Given the description of an element on the screen output the (x, y) to click on. 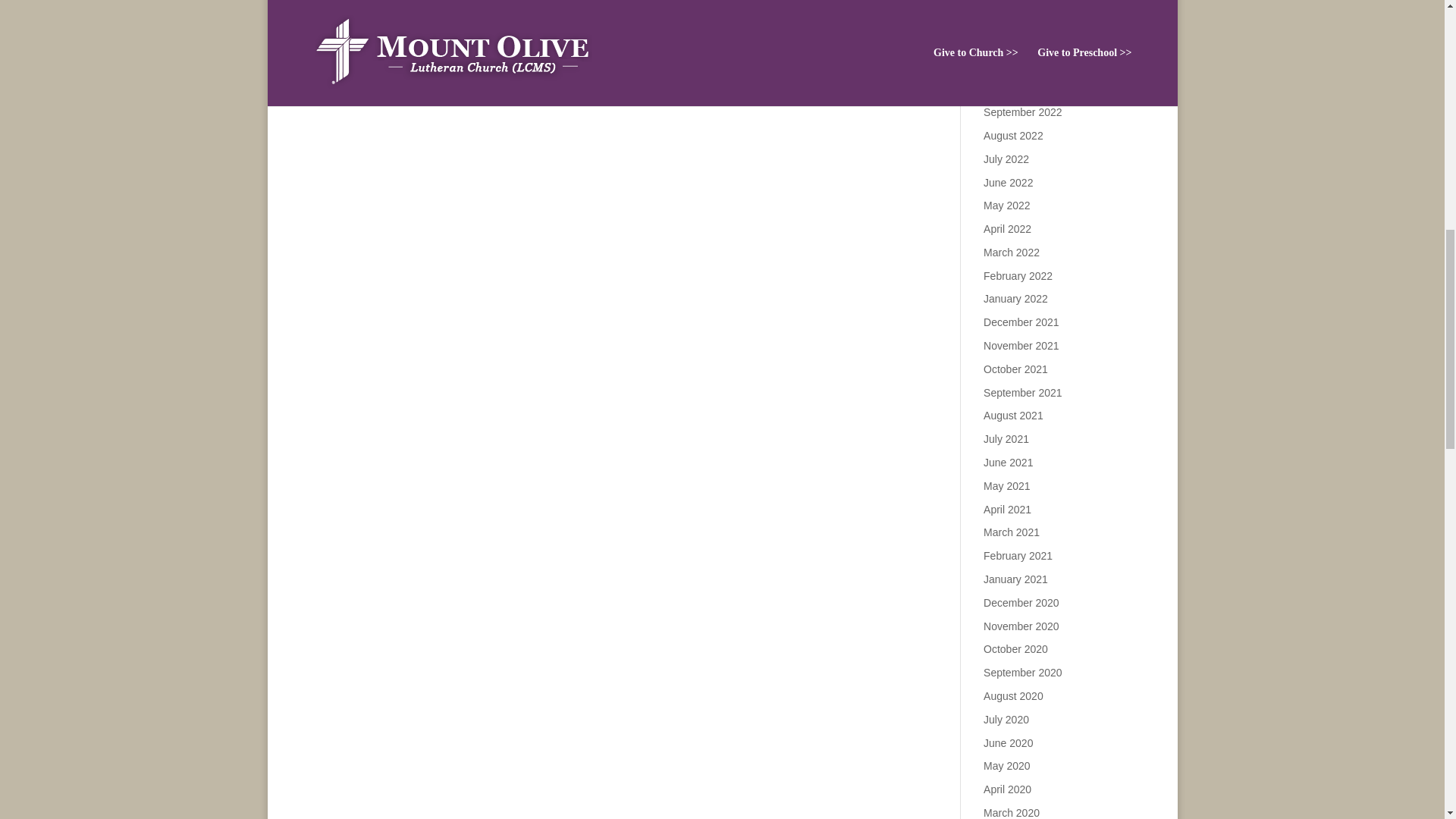
August 2022 (1013, 135)
November 2022 (1021, 65)
October 2022 (1016, 88)
September 2022 (1023, 111)
February 2023 (1018, 0)
January 2023 (1016, 19)
July 2022 (1006, 159)
June 2022 (1008, 182)
December 2022 (1021, 42)
